Given the description of an element on the screen output the (x, y) to click on. 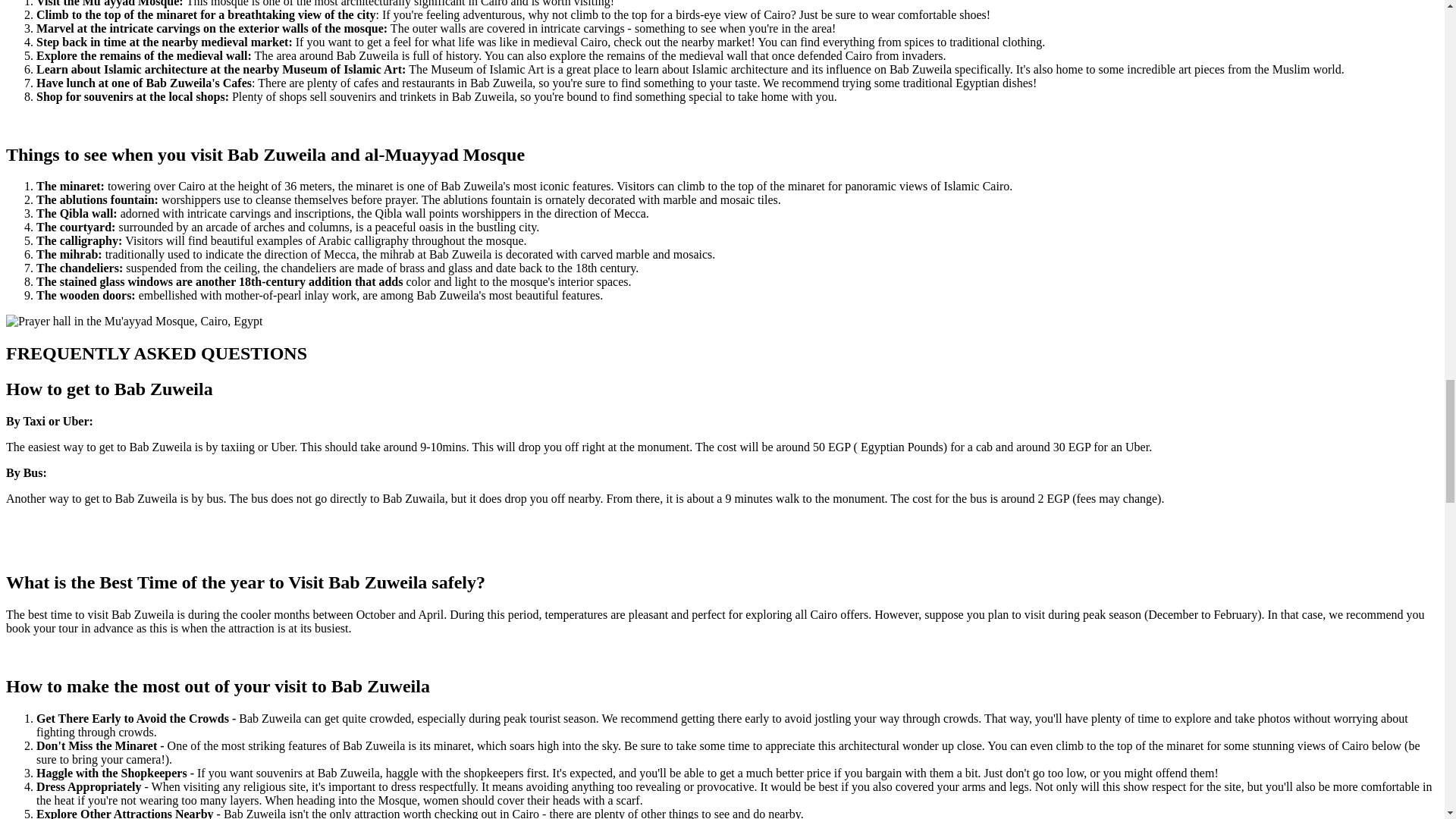
Prayer hall in the Mu'ayyad Mosque, Cairo, Egypt (133, 321)
